Given the description of an element on the screen output the (x, y) to click on. 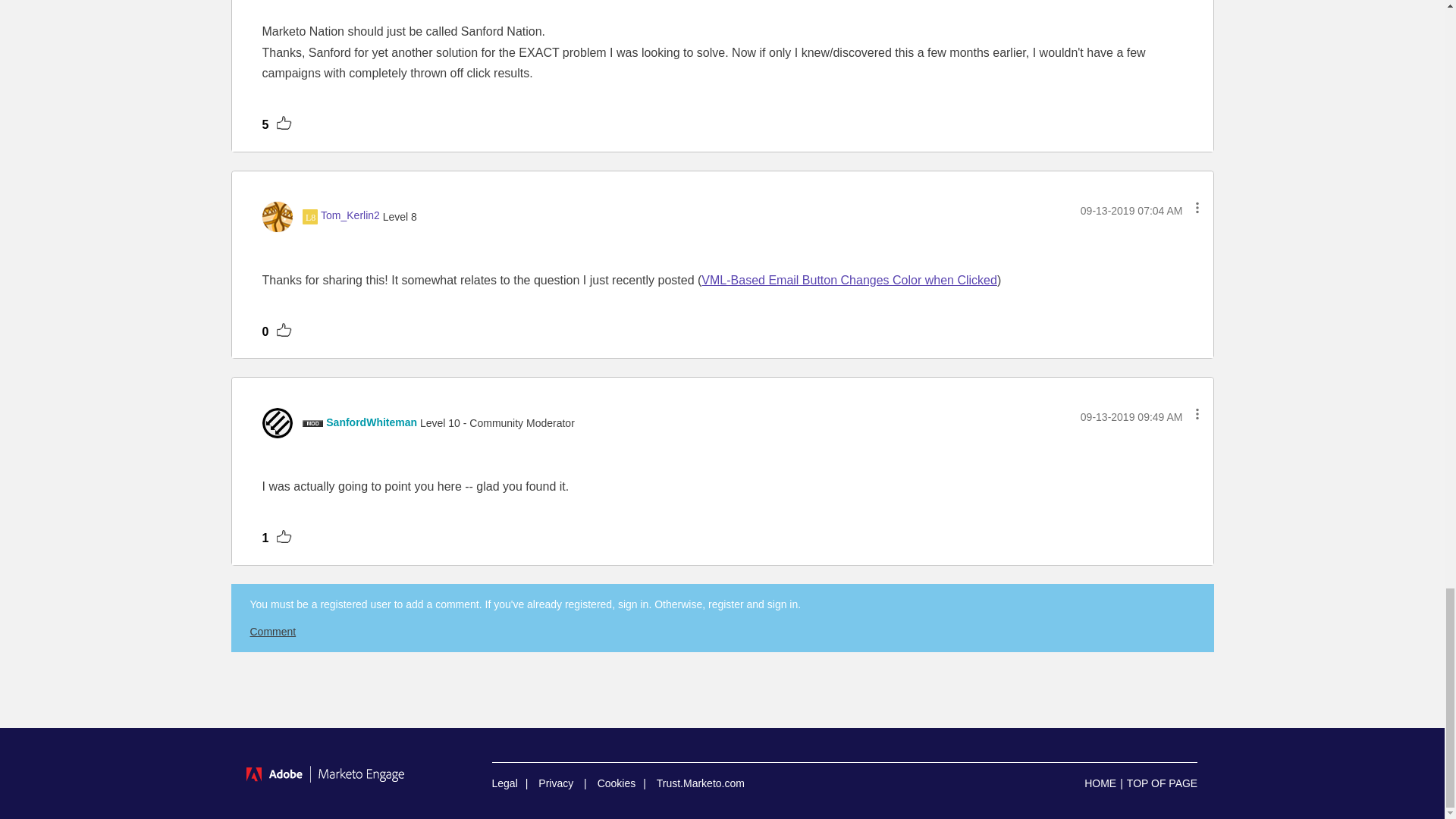
TOP (1161, 782)
TOP (1161, 782)
